Given the description of an element on the screen output the (x, y) to click on. 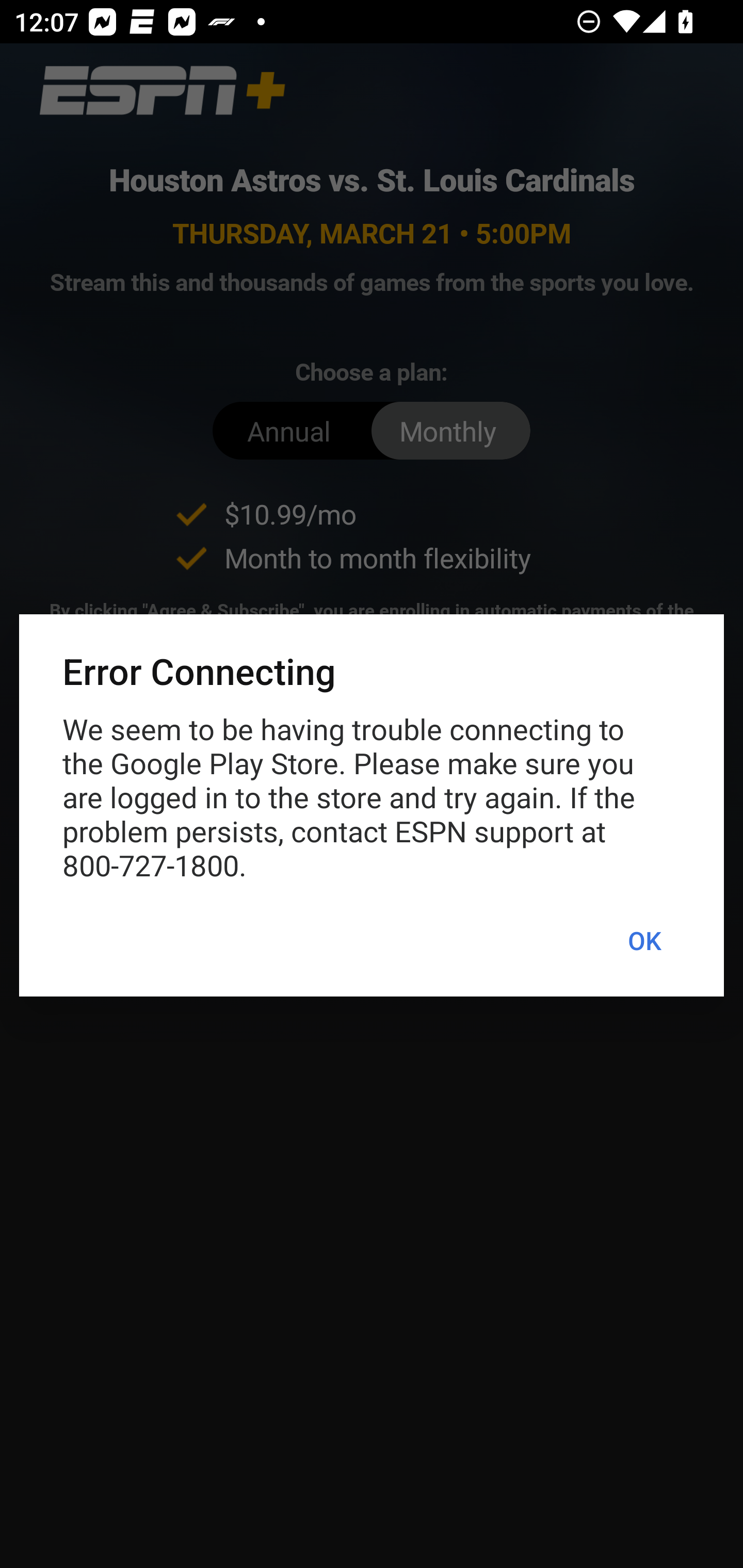
OK (644, 940)
